Given the description of an element on the screen output the (x, y) to click on. 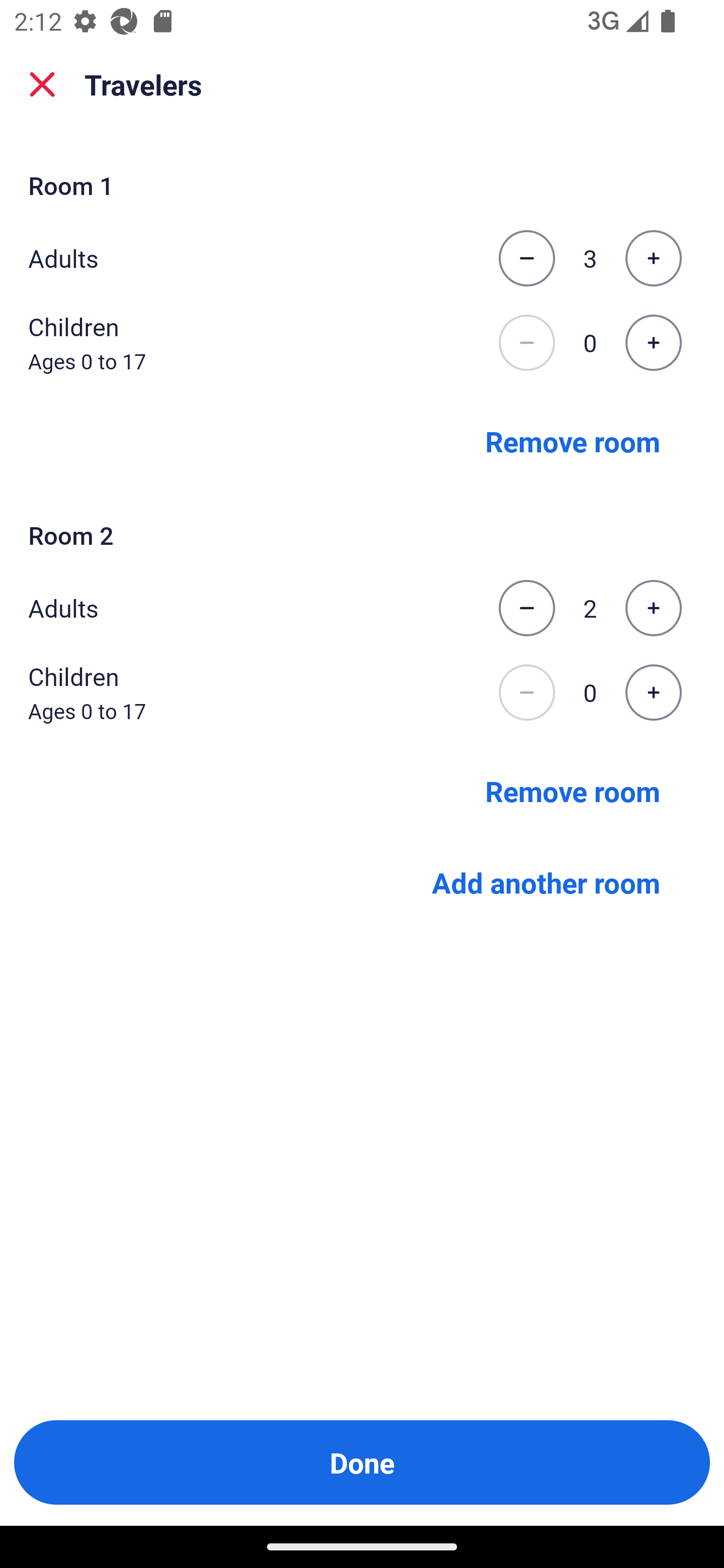
close (42, 84)
Decrease the number of adults (526, 258)
Increase the number of adults (653, 258)
Decrease the number of children (526, 343)
Increase the number of children (653, 343)
Remove room (572, 440)
Decrease the number of adults (526, 608)
Increase the number of adults (653, 608)
Decrease the number of children (526, 692)
Increase the number of children (653, 692)
Remove room (572, 790)
Add another room (545, 882)
Done (361, 1462)
